Given the description of an element on the screen output the (x, y) to click on. 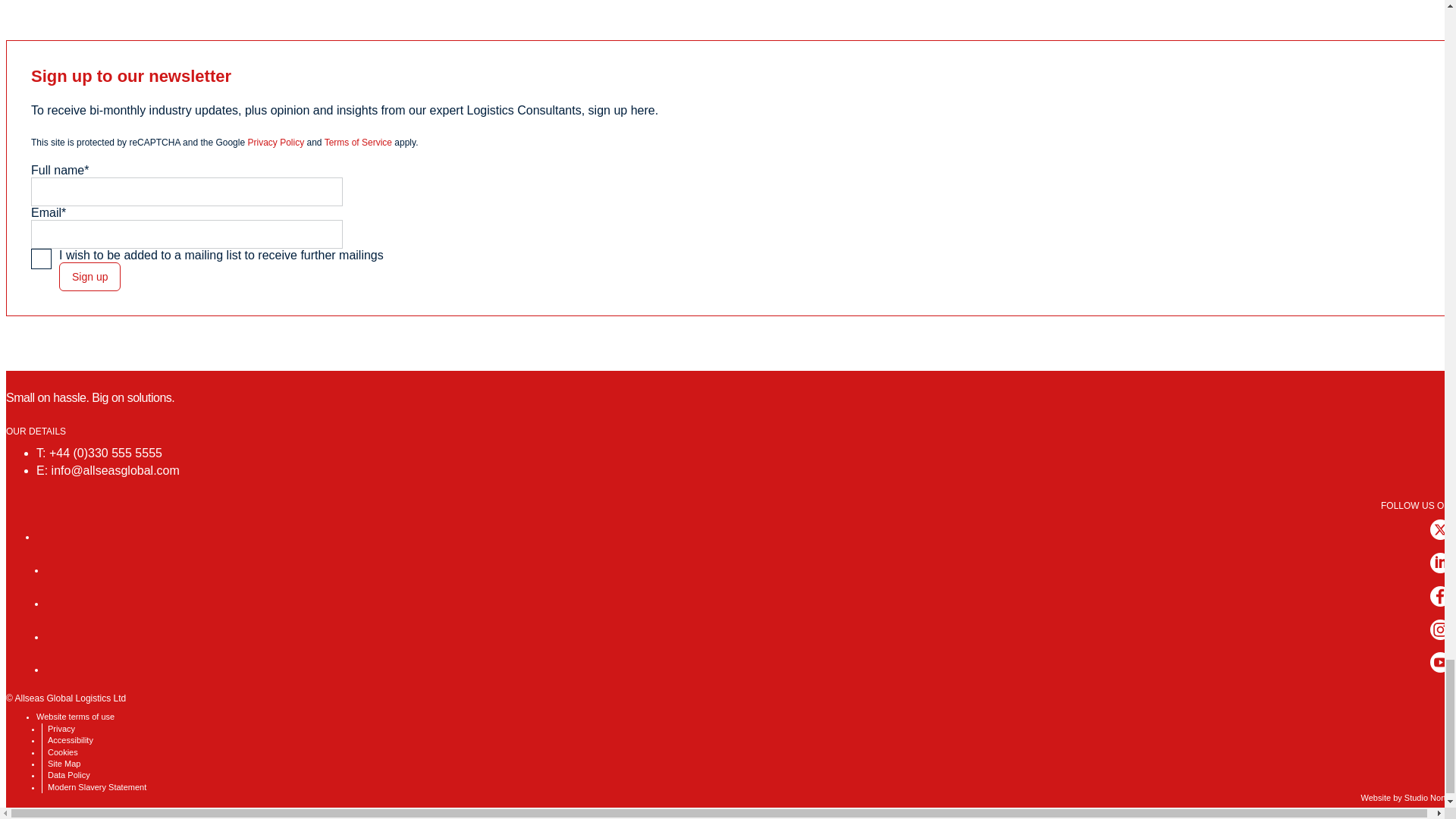
Terms of Service (357, 142)
Privacy Policy (275, 142)
Email us (114, 470)
Sign up (89, 276)
